Given the description of an element on the screen output the (x, y) to click on. 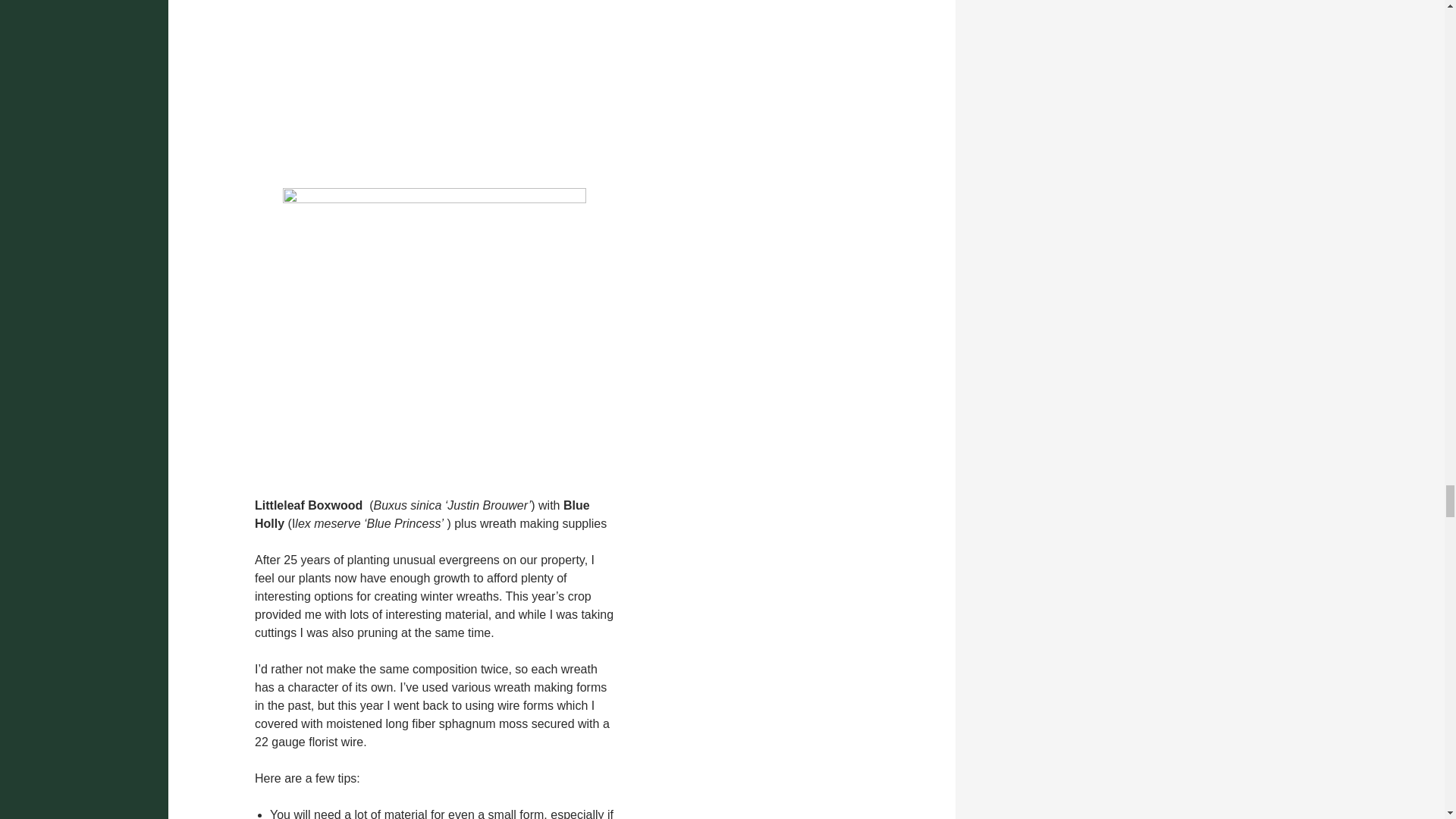
wreath.supplies (434, 339)
box.holly400 (434, 91)
